Given the description of an element on the screen output the (x, y) to click on. 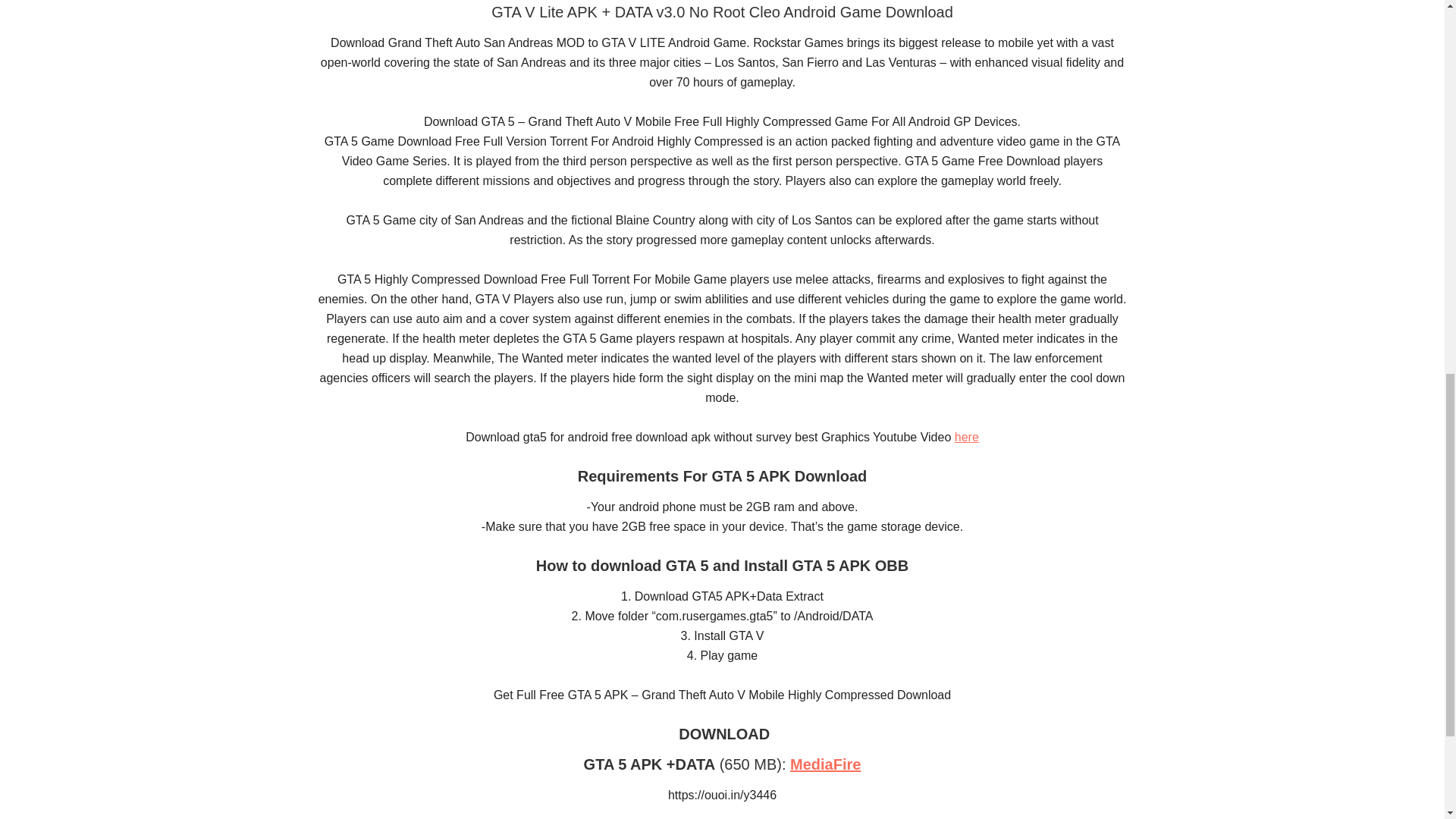
here (966, 436)
MediaFire (825, 764)
